Given the description of an element on the screen output the (x, y) to click on. 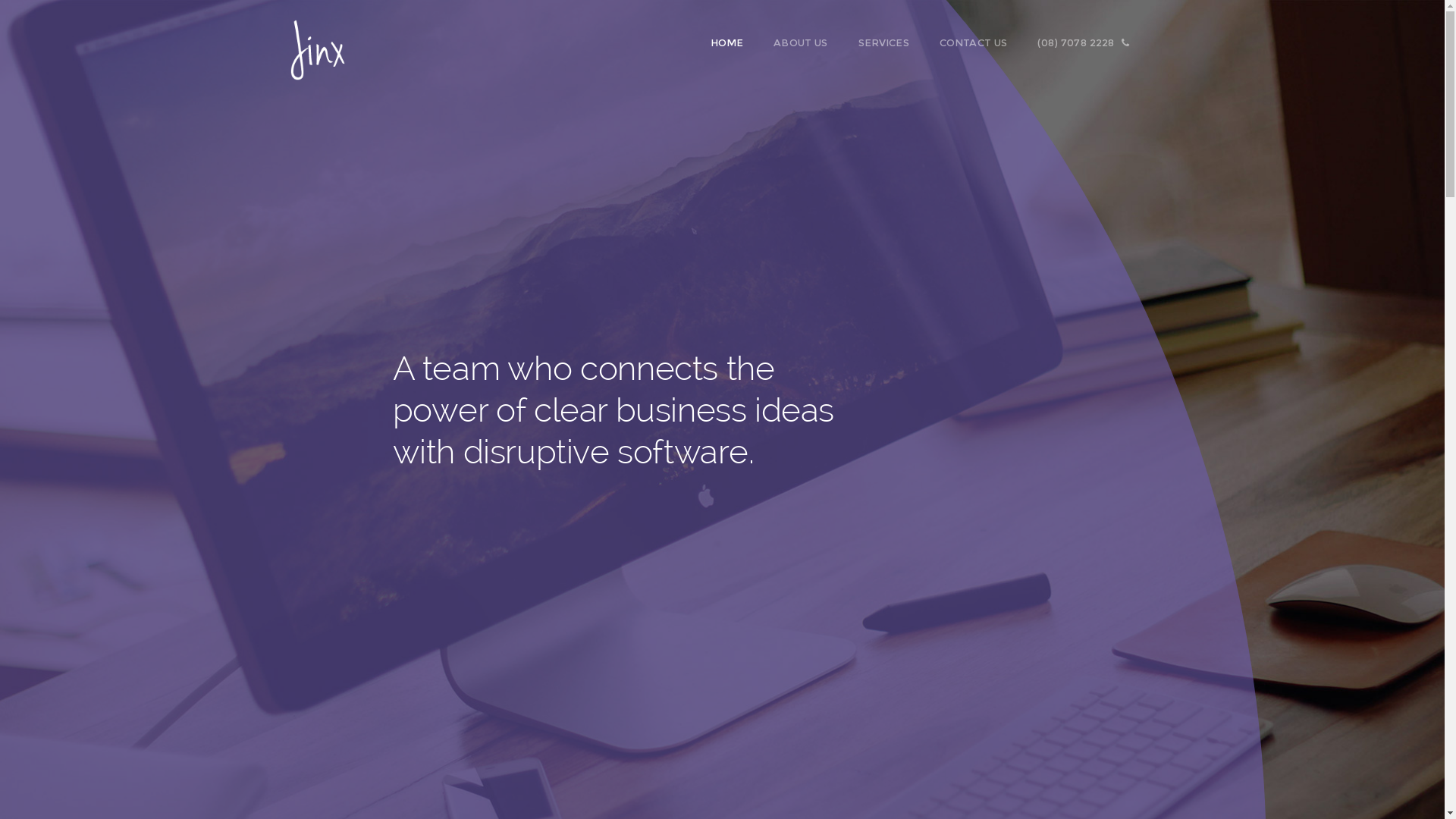
ABOUT US Element type: text (808, 42)
CONTACT US Element type: text (980, 42)
Jinx Software - Custom software & web development Element type: hover (316, 41)
SERVICES Element type: text (891, 42)
(08) 7078 2228 Element type: text (1091, 42)
HOME Element type: text (734, 42)
